Given the description of an element on the screen output the (x, y) to click on. 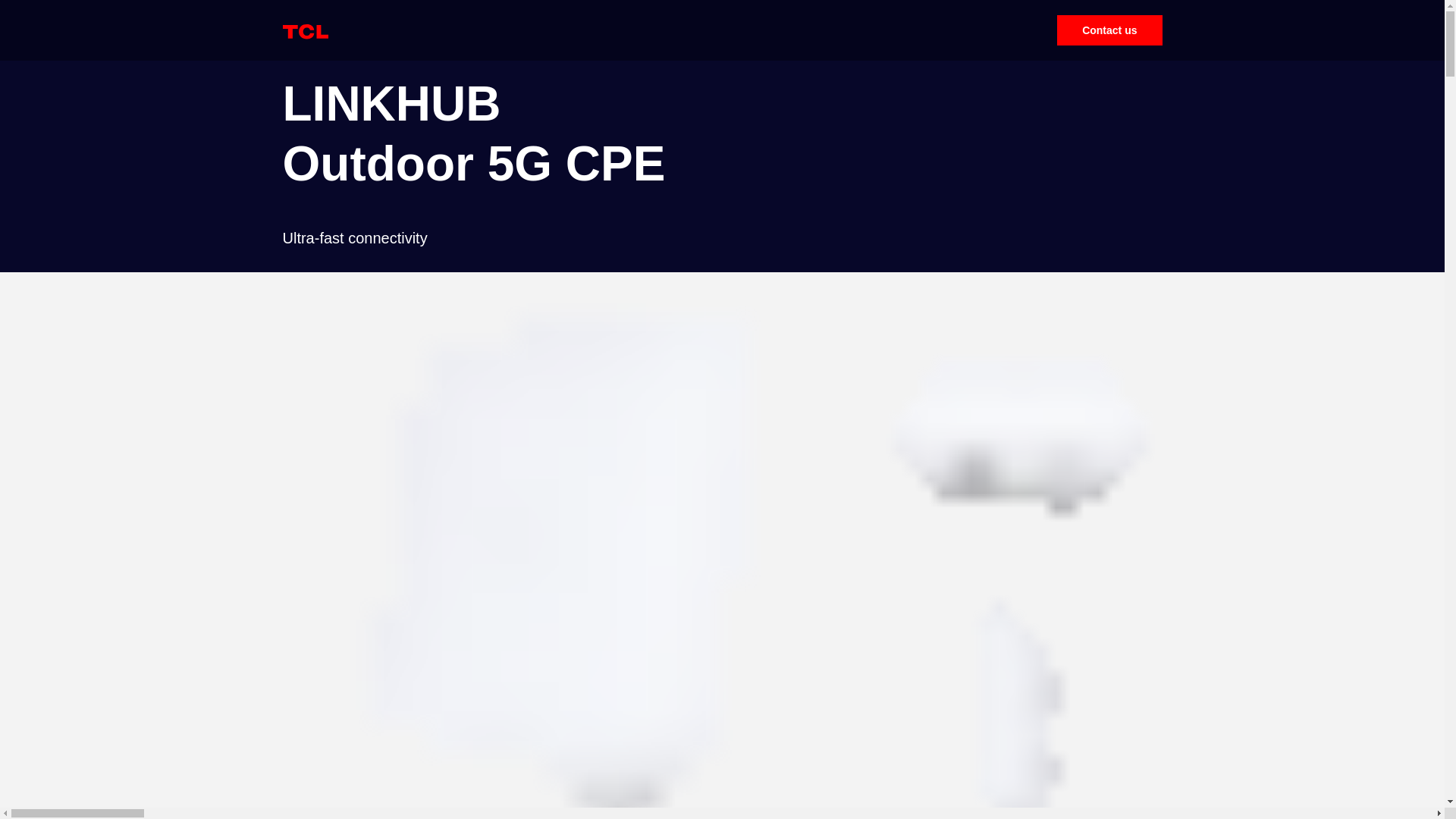
Contact us (1109, 30)
